Given the description of an element on the screen output the (x, y) to click on. 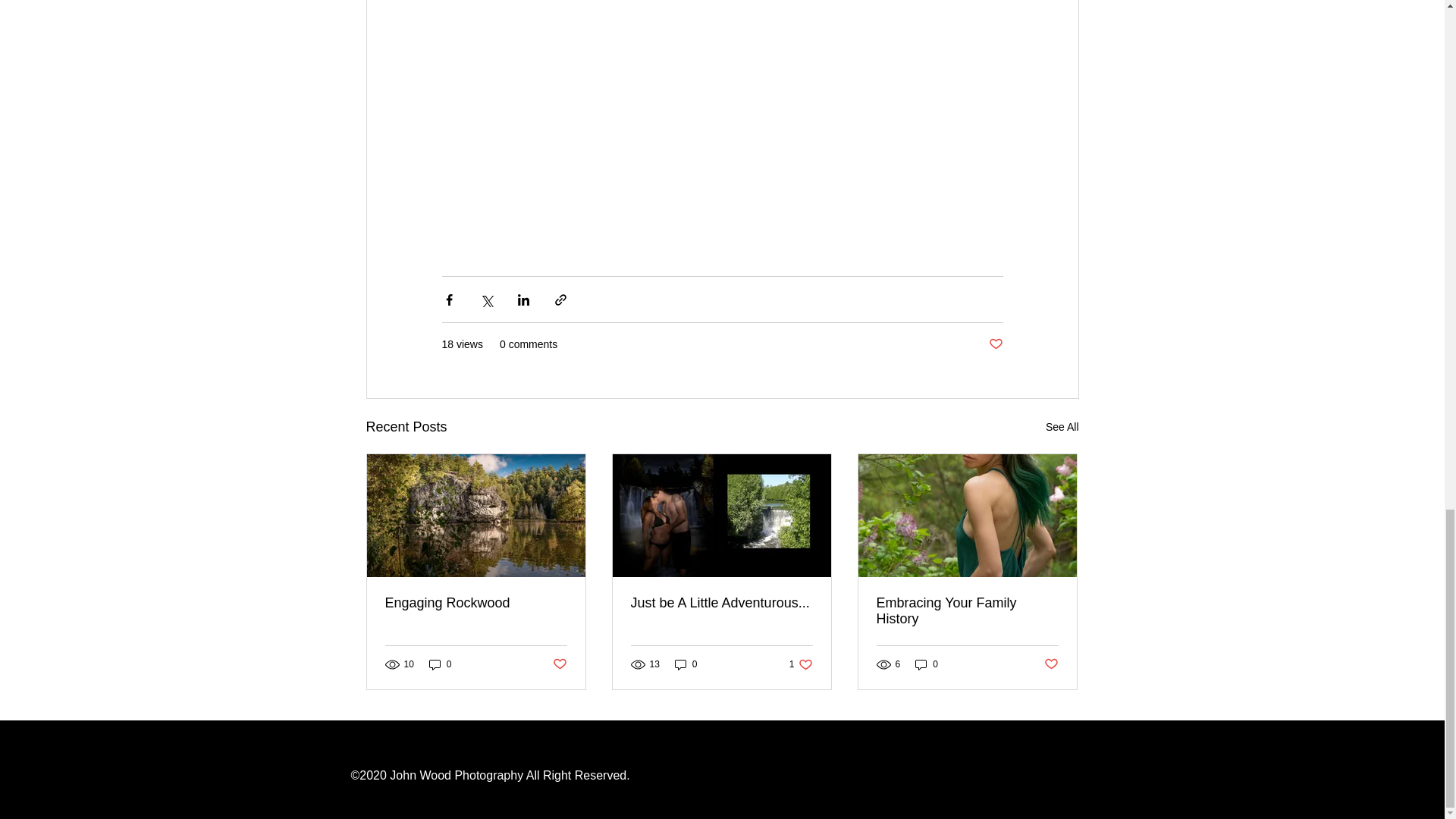
Just be A Little Adventurous... (721, 602)
See All (1061, 427)
Engaging Rockwood (476, 602)
Post not marked as liked (995, 344)
0 (685, 664)
0 (440, 664)
Post not marked as liked (558, 664)
